Given the description of an element on the screen output the (x, y) to click on. 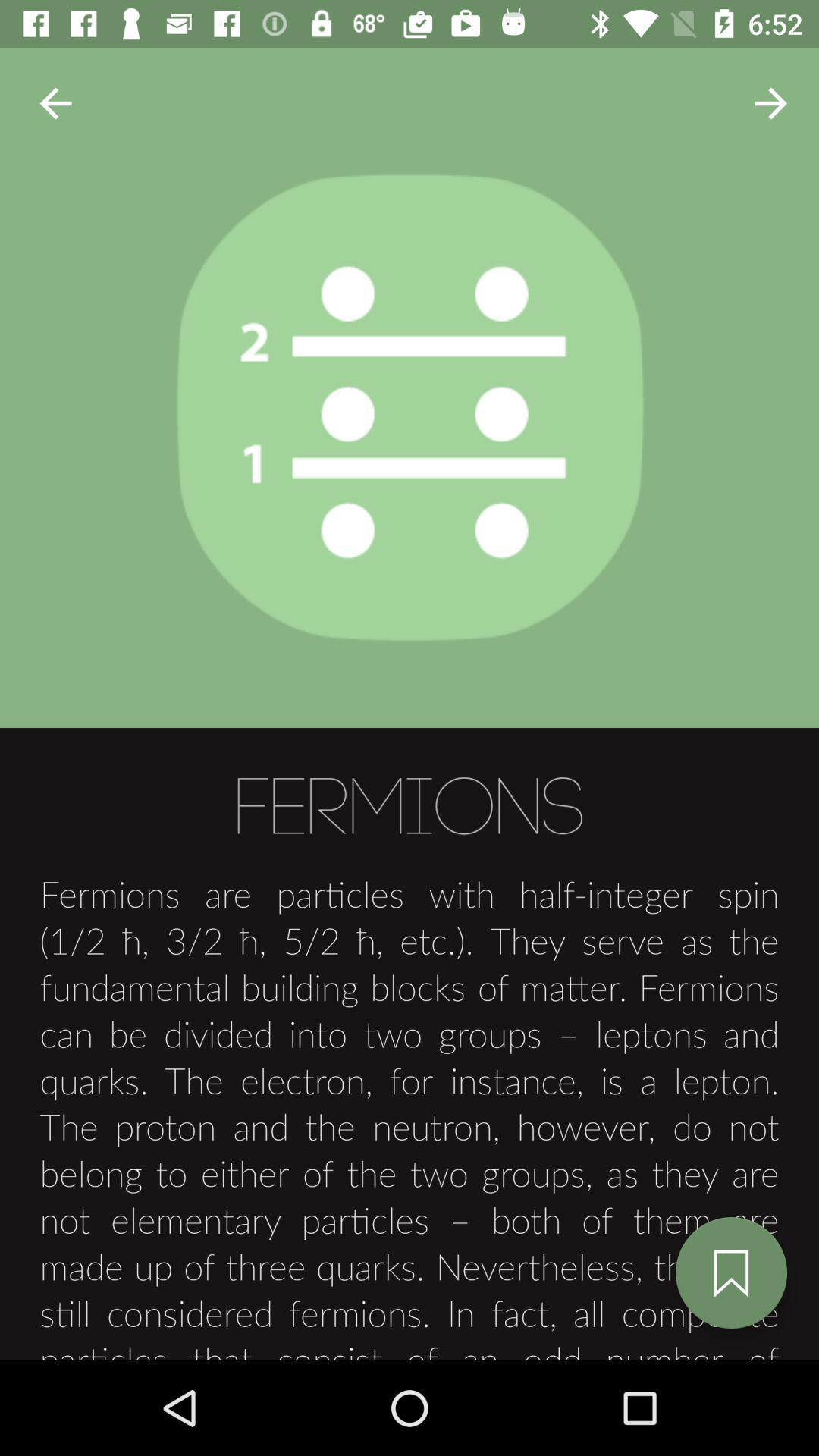
back (55, 103)
